Given the description of an element on the screen output the (x, y) to click on. 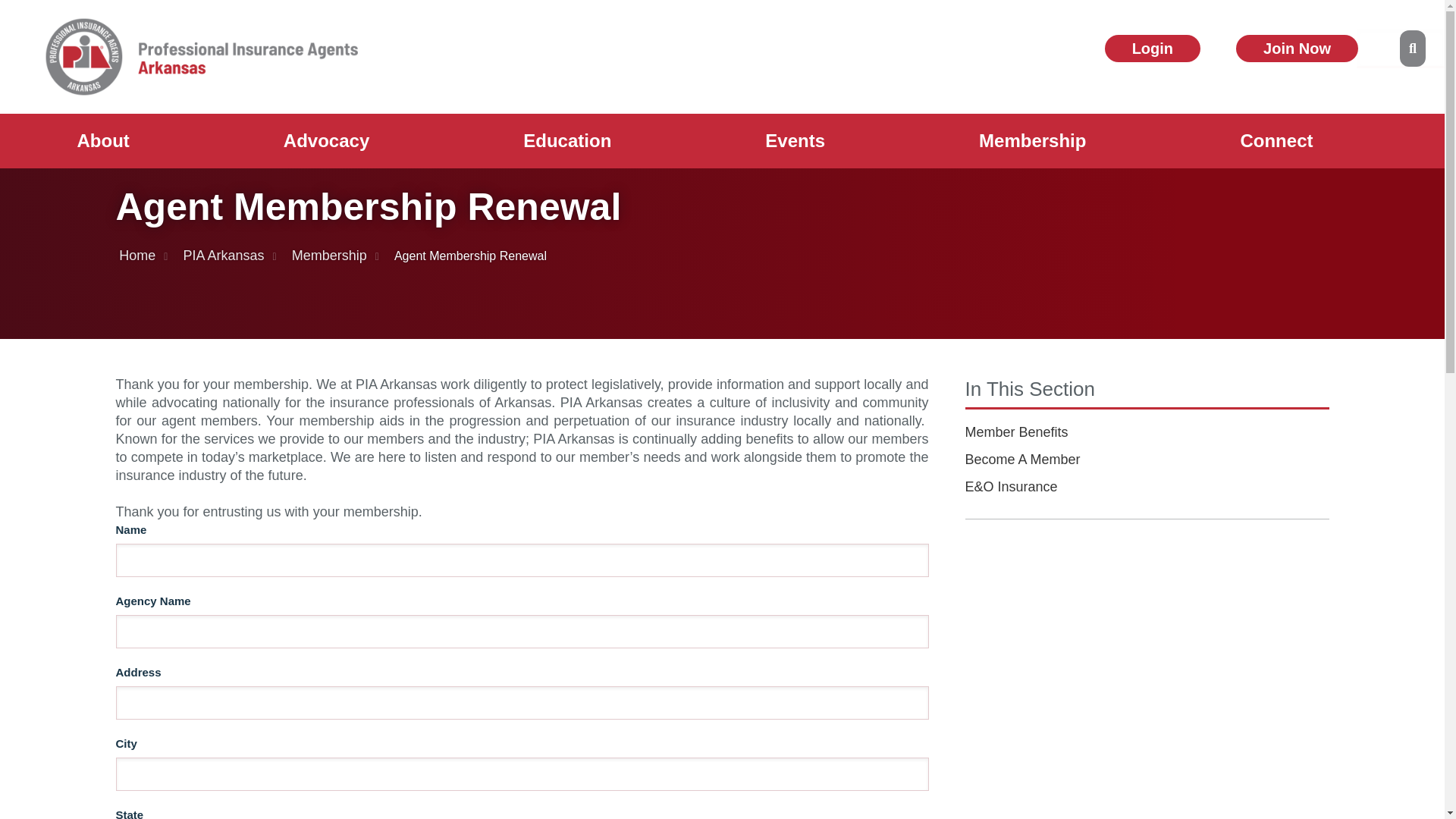
Advocacy (325, 140)
Connect (1276, 140)
About (103, 140)
Events (795, 140)
Membership (1032, 140)
Login (1152, 48)
Join Now (1297, 48)
Education (567, 140)
